Given the description of an element on the screen output the (x, y) to click on. 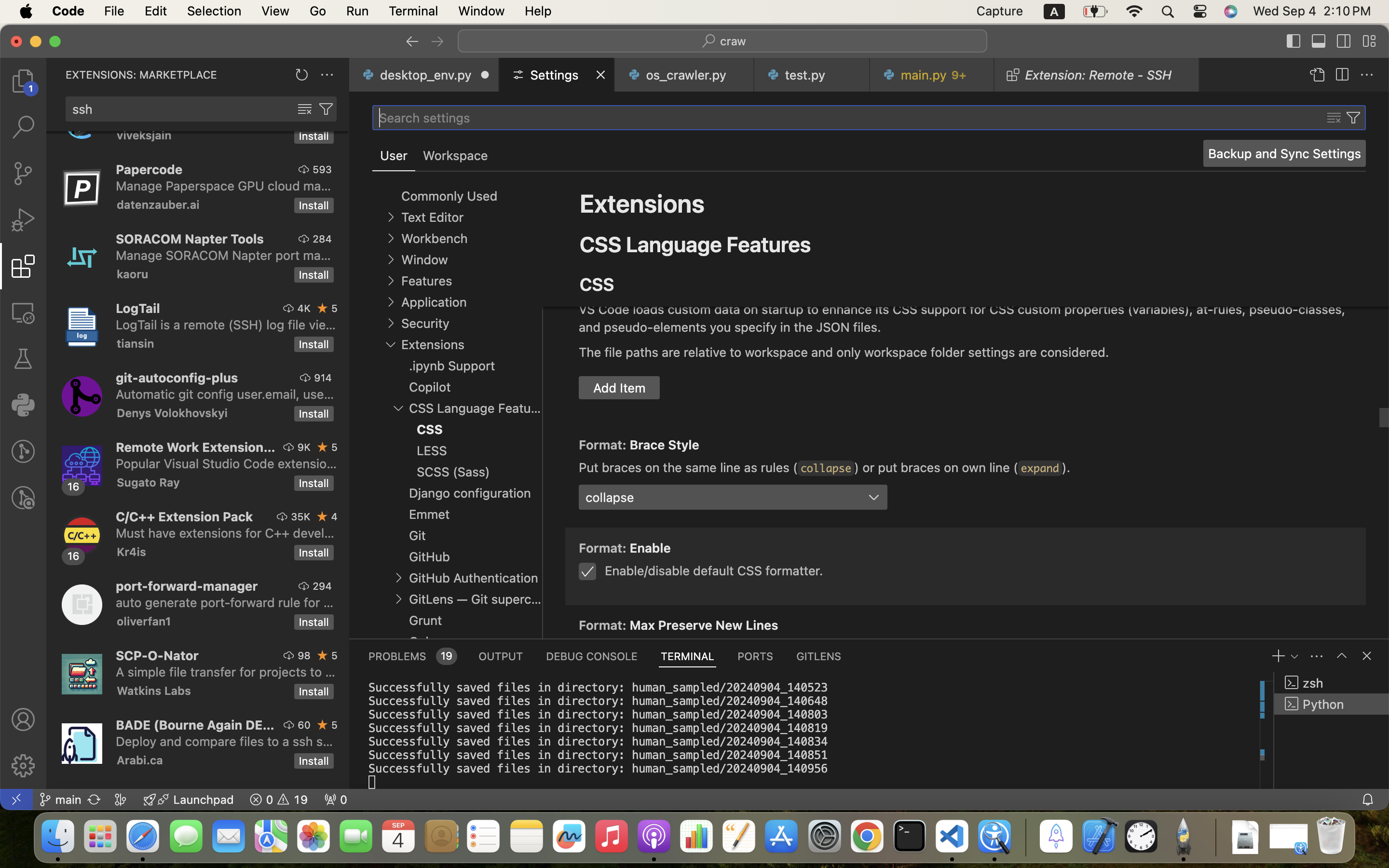
BADE (Bourne Again DEploy) Element type: AXStaticText (194, 724)
0  Element type: AXRadioButton (23, 312)
Extensions Element type: AXStaticText (642, 203)
Custom Data Element type: AXStaticText (617, 261)
port-forward-manager Element type: AXStaticText (186, 585)
